Given the description of an element on the screen output the (x, y) to click on. 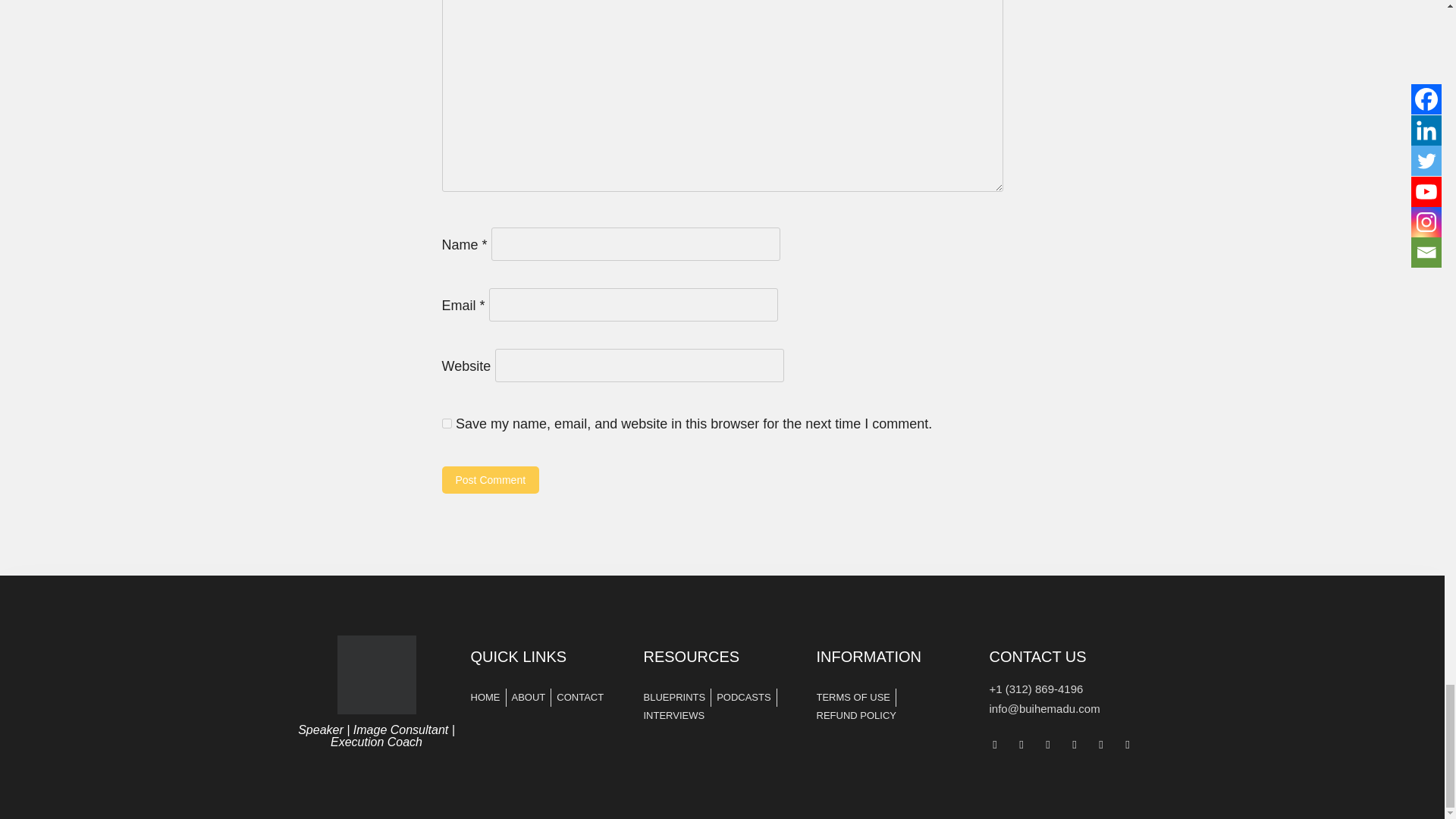
yes (446, 423)
Post Comment (489, 479)
